Given the description of an element on the screen output the (x, y) to click on. 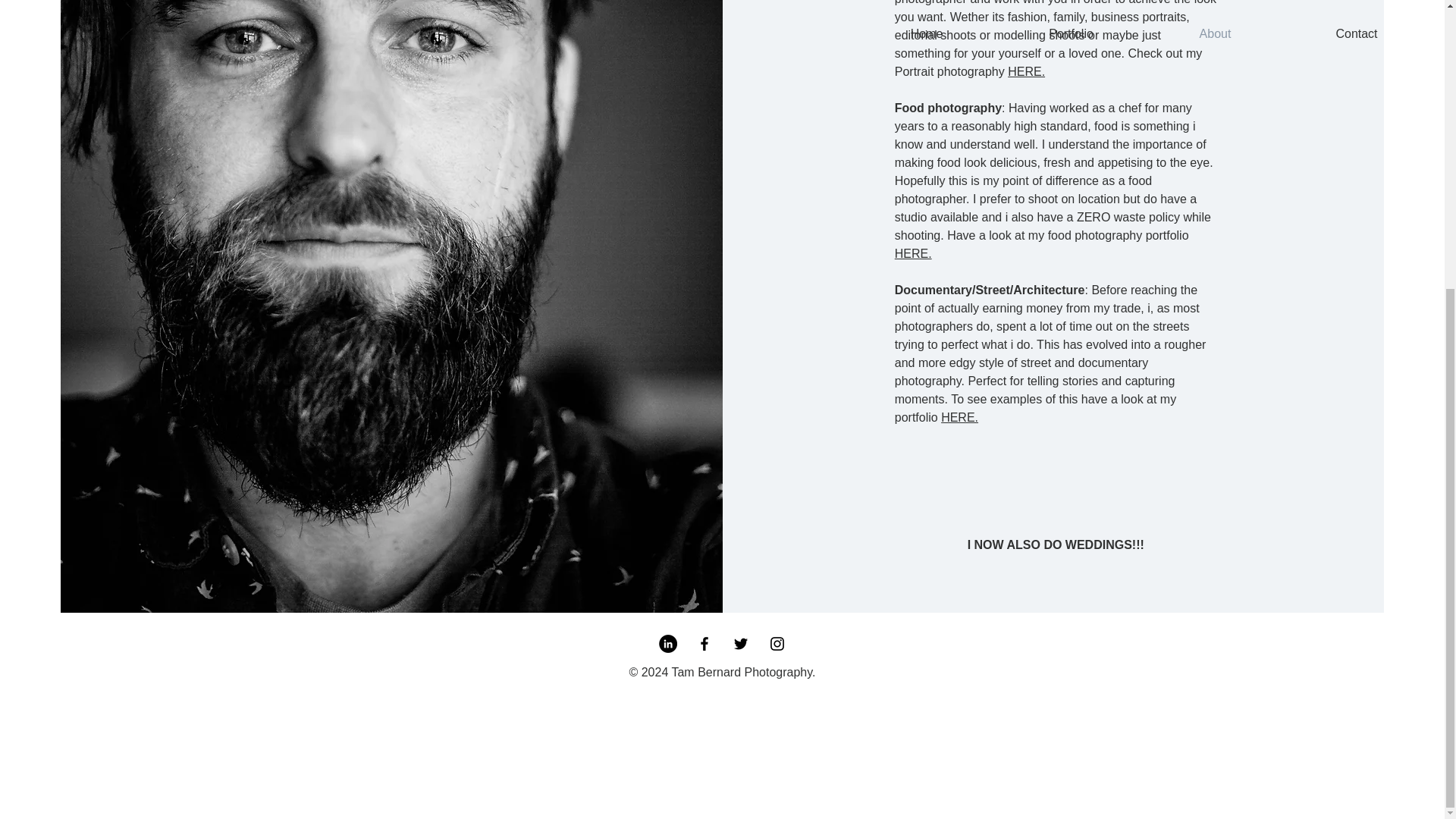
HERE. (959, 417)
HERE. (913, 253)
HERE. (1026, 71)
